Given the description of an element on the screen output the (x, y) to click on. 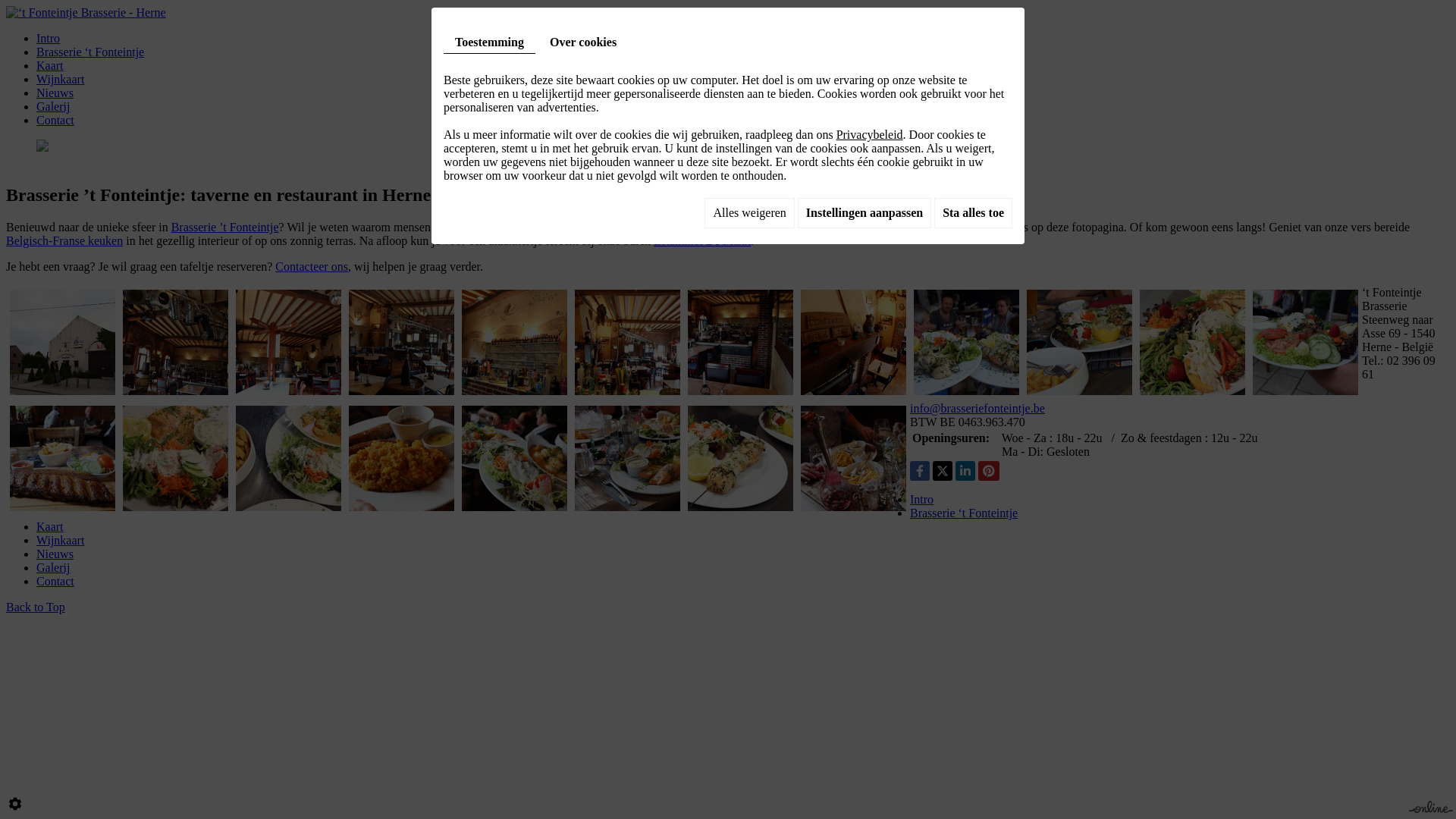
Wijnkaart Element type: text (60, 78)
Alles weigeren Element type: text (748, 212)
Kaart Element type: text (49, 65)
Toestemming Element type: text (489, 42)
Galerij Element type: text (52, 567)
Contact Element type: text (55, 580)
Kaart Element type: text (49, 526)
Cookie-instelling bewerken Element type: text (14, 803)
Contact Element type: text (55, 119)
Over cookies Element type: text (582, 42)
Instellingen aanpassen Element type: text (864, 212)
Galerij Element type: text (52, 106)
LinkedIn Element type: hover (965, 470)
Nieuws Element type: text (54, 553)
Belgisch-Franse keuken Element type: text (64, 240)
Estaminet De Maxx Element type: text (701, 240)
Wijnkaart Element type: text (60, 539)
Back to Top Element type: text (35, 606)
Intro Element type: text (921, 498)
Intro Element type: text (47, 37)
X Element type: hover (942, 470)
Nieuws Element type: text (54, 92)
Sta alles toe Element type: text (973, 212)
Contacteer ons Element type: text (311, 266)
Pinterest Element type: hover (988, 470)
Privacybeleid Element type: text (869, 134)
info@brasseriefonteintje.be Element type: text (977, 407)
Facebook Element type: hover (919, 470)
